Given the description of an element on the screen output the (x, y) to click on. 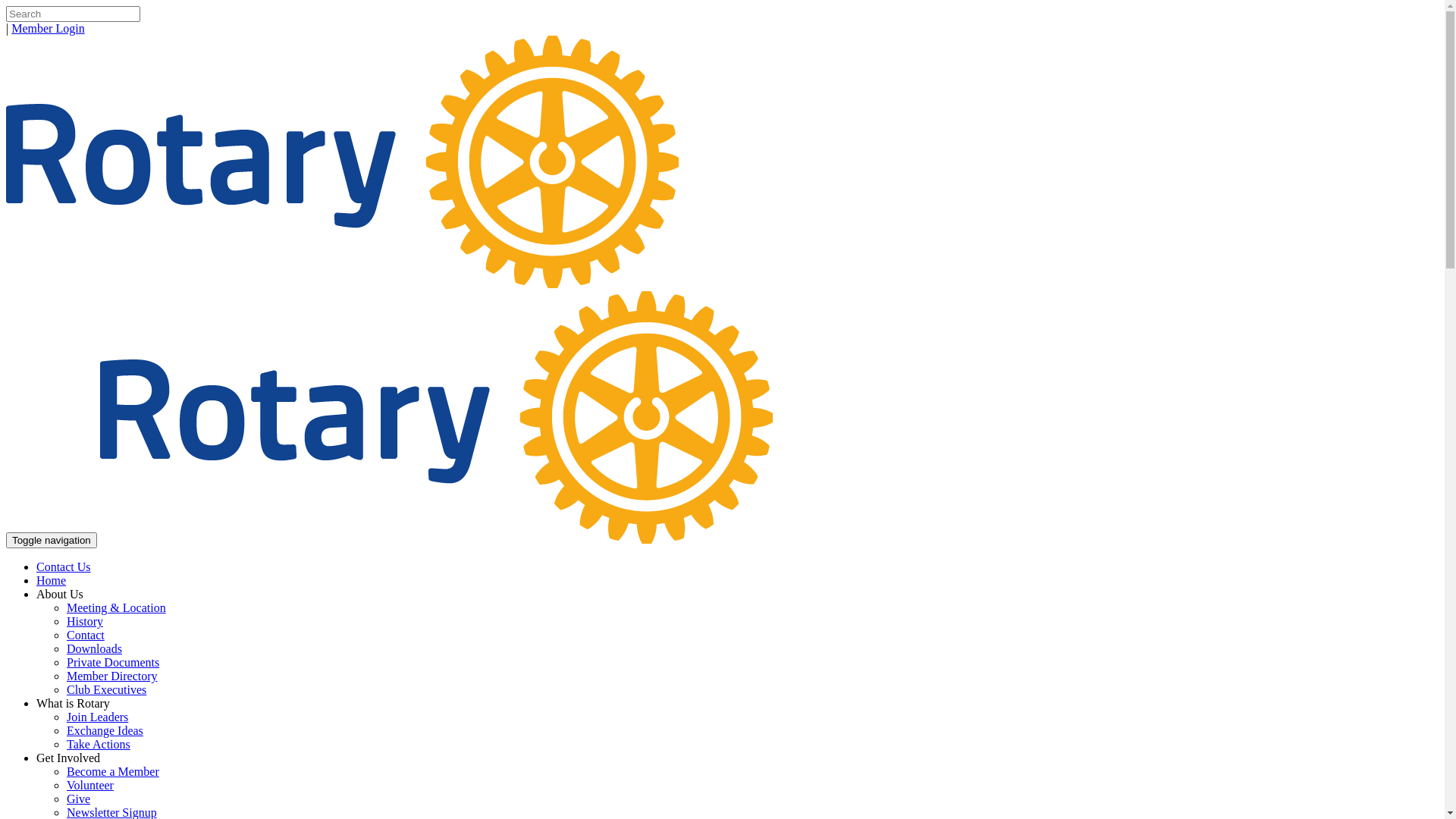
Home Element type: text (50, 580)
Club Executives Element type: text (106, 689)
About Us Element type: text (59, 593)
What is Rotary Element type: text (72, 702)
Give Element type: text (78, 798)
Volunteer Element type: text (89, 784)
Take Actions Element type: text (98, 743)
Toggle navigation Element type: text (51, 540)
Contact Us Element type: text (63, 566)
Contact Element type: text (85, 634)
Member Directory Element type: text (111, 675)
History Element type: text (84, 621)
Get Involved Element type: text (68, 757)
Become a Member Element type: text (112, 771)
Join Leaders Element type: text (97, 716)
Downloads Element type: text (94, 648)
Member Login Element type: text (47, 27)
Meeting & Location Element type: text (116, 607)
Exchange Ideas Element type: text (104, 730)
Private Documents Element type: text (112, 661)
